Given the description of an element on the screen output the (x, y) to click on. 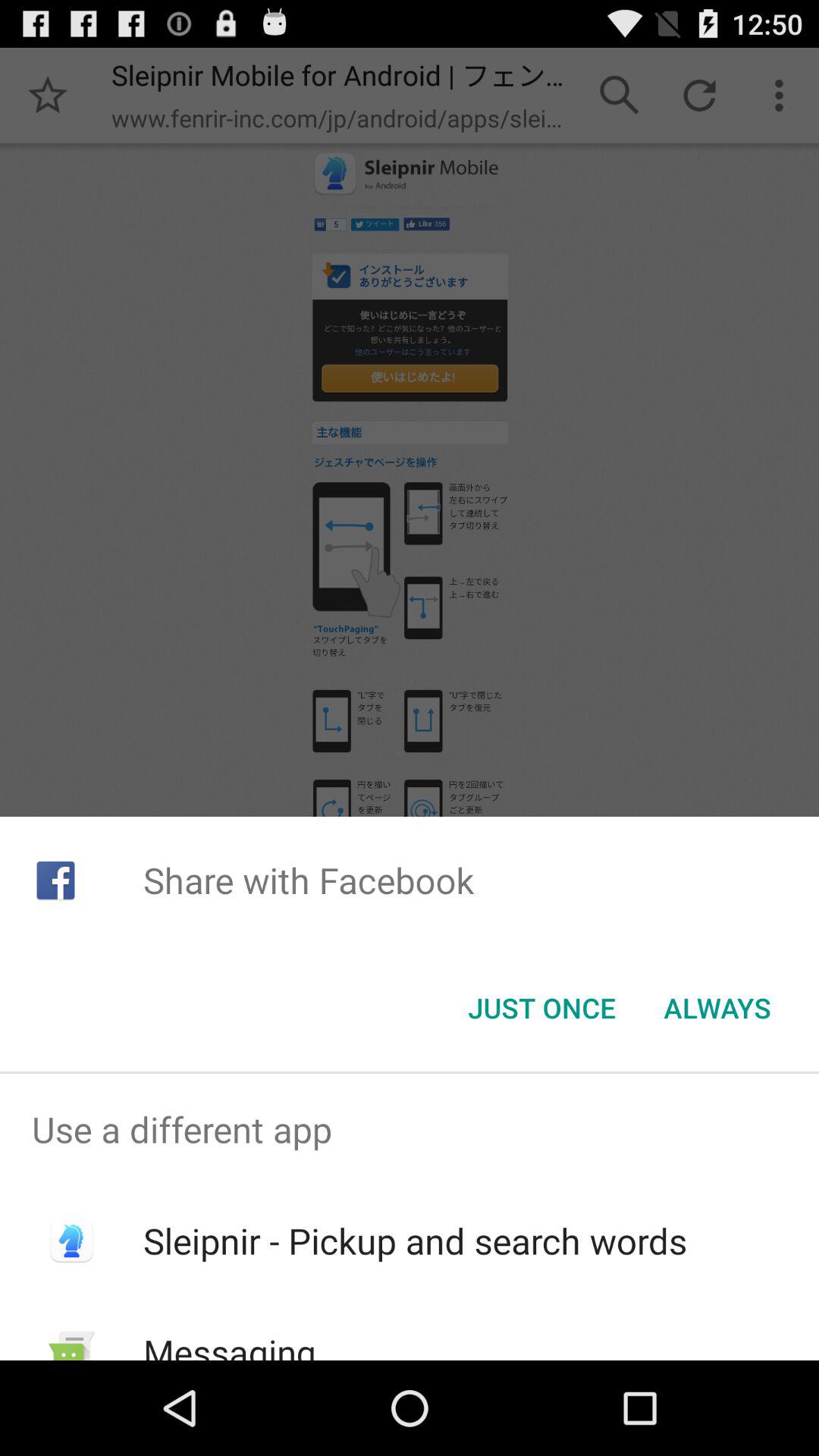
scroll to the always item (717, 1007)
